Given the description of an element on the screen output the (x, y) to click on. 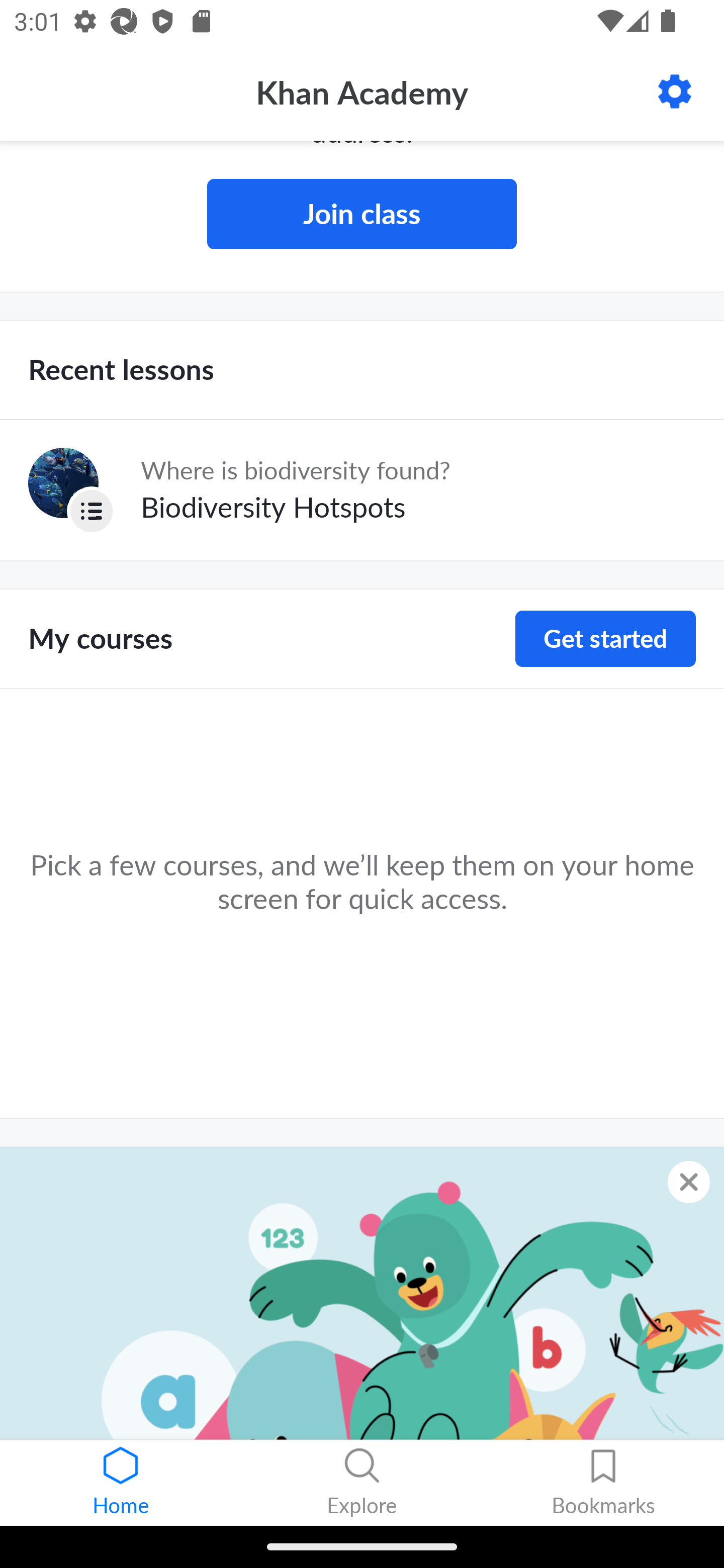
Settings (674, 91)
Join class (361, 213)
Get started (605, 637)
Dismiss (688, 1181)
Home (120, 1482)
Explore (361, 1482)
Bookmarks (603, 1482)
